Given the description of an element on the screen output the (x, y) to click on. 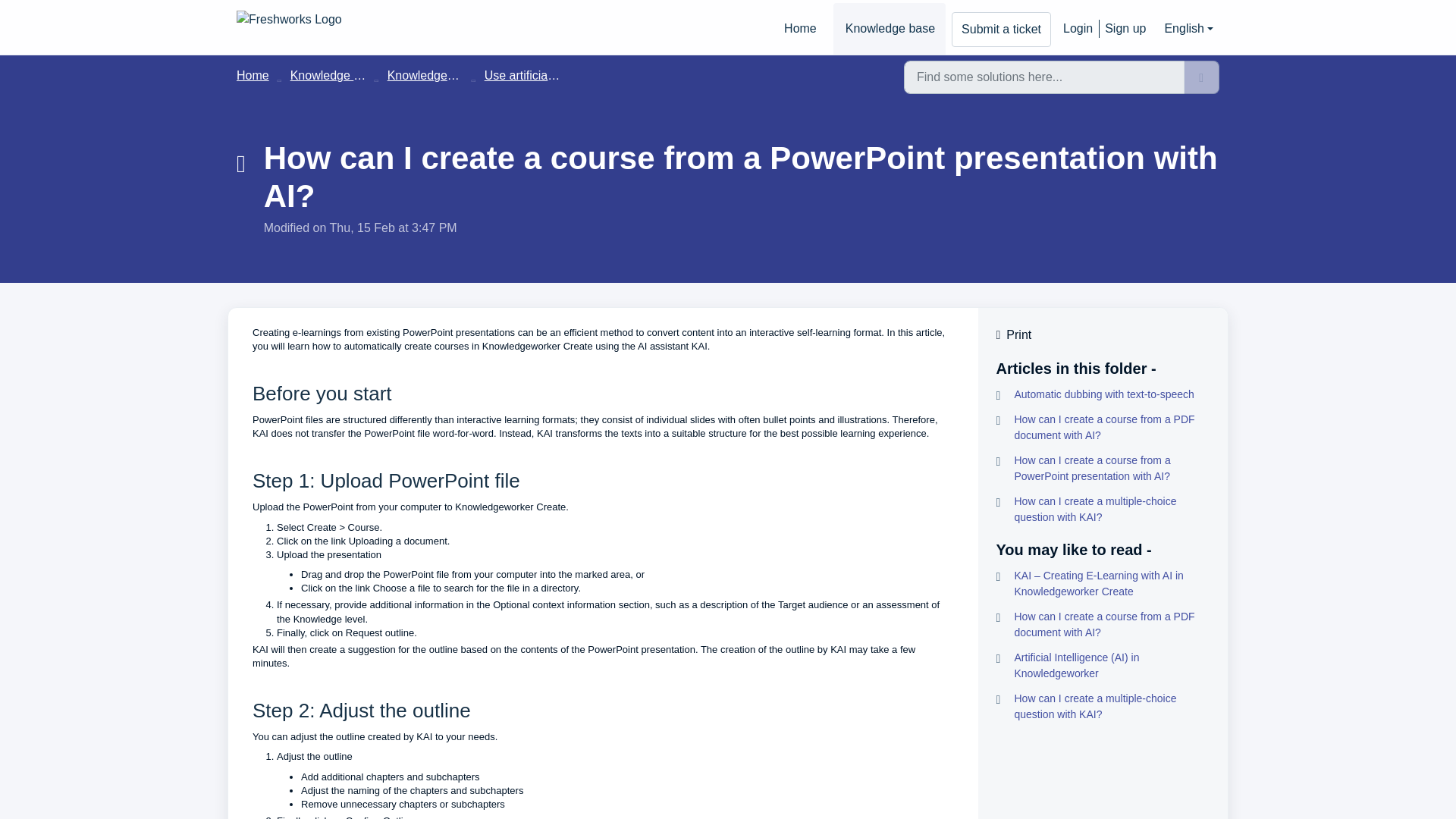
How can I create a multiple-choice question with KAI? (1102, 509)
How can I create a course from a PDF document with AI? (1102, 624)
Sign up (1122, 28)
Home (252, 74)
How can I create a multiple-choice question with KAI? (1102, 706)
How can I create a course from a PDF document with AI? (1102, 427)
Home (799, 28)
Knowledgeworker Create (455, 74)
Submit a ticket (1001, 29)
